Given the description of an element on the screen output the (x, y) to click on. 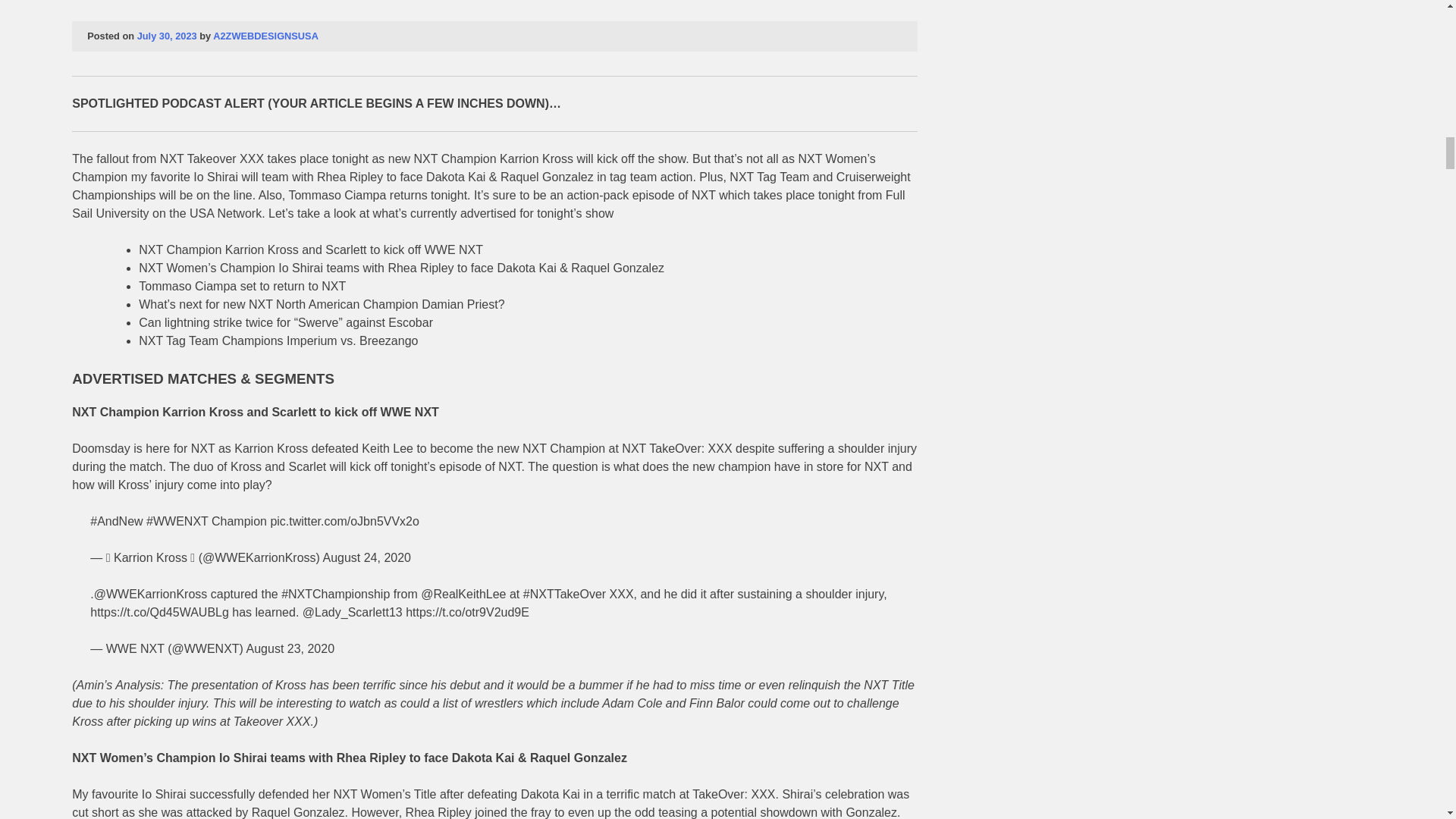
A2ZWEBDESIGNSUSA (265, 35)
July 30, 2023 (166, 35)
